Given the description of an element on the screen output the (x, y) to click on. 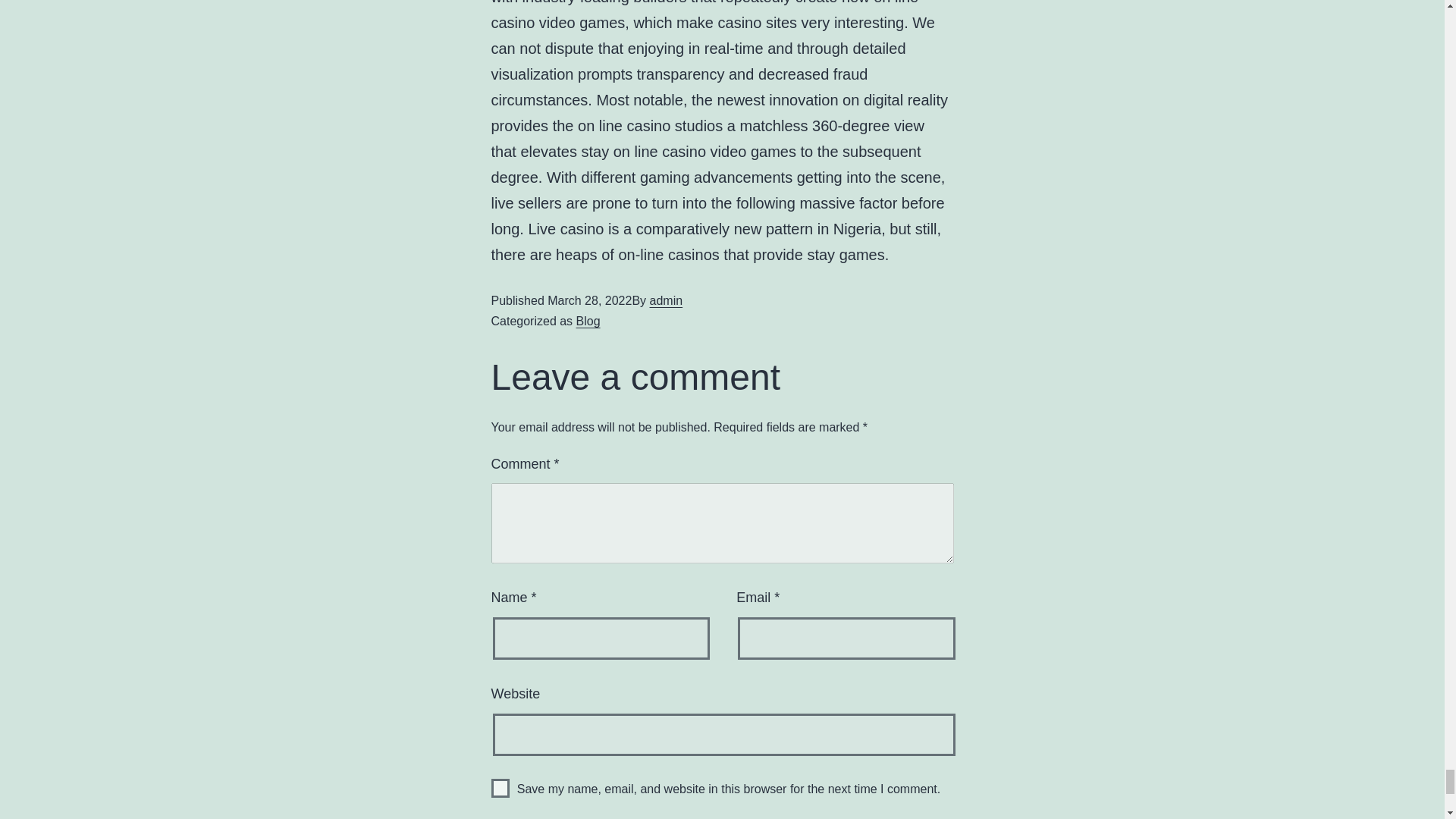
admin (665, 300)
yes (500, 787)
Blog (587, 320)
